Given the description of an element on the screen output the (x, y) to click on. 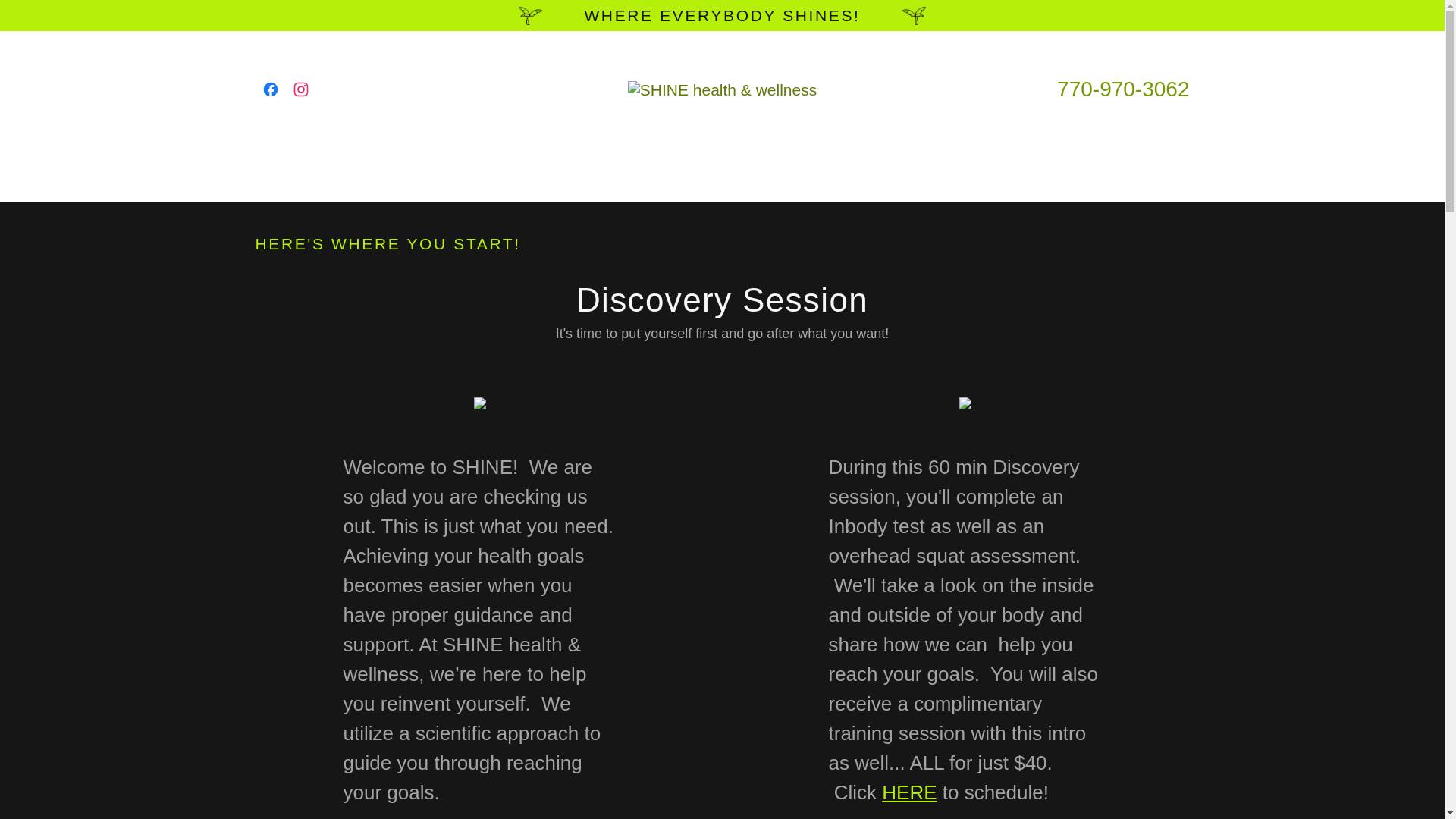
HERE (909, 792)
770-970-3062 (1123, 88)
